Given the description of an element on the screen output the (x, y) to click on. 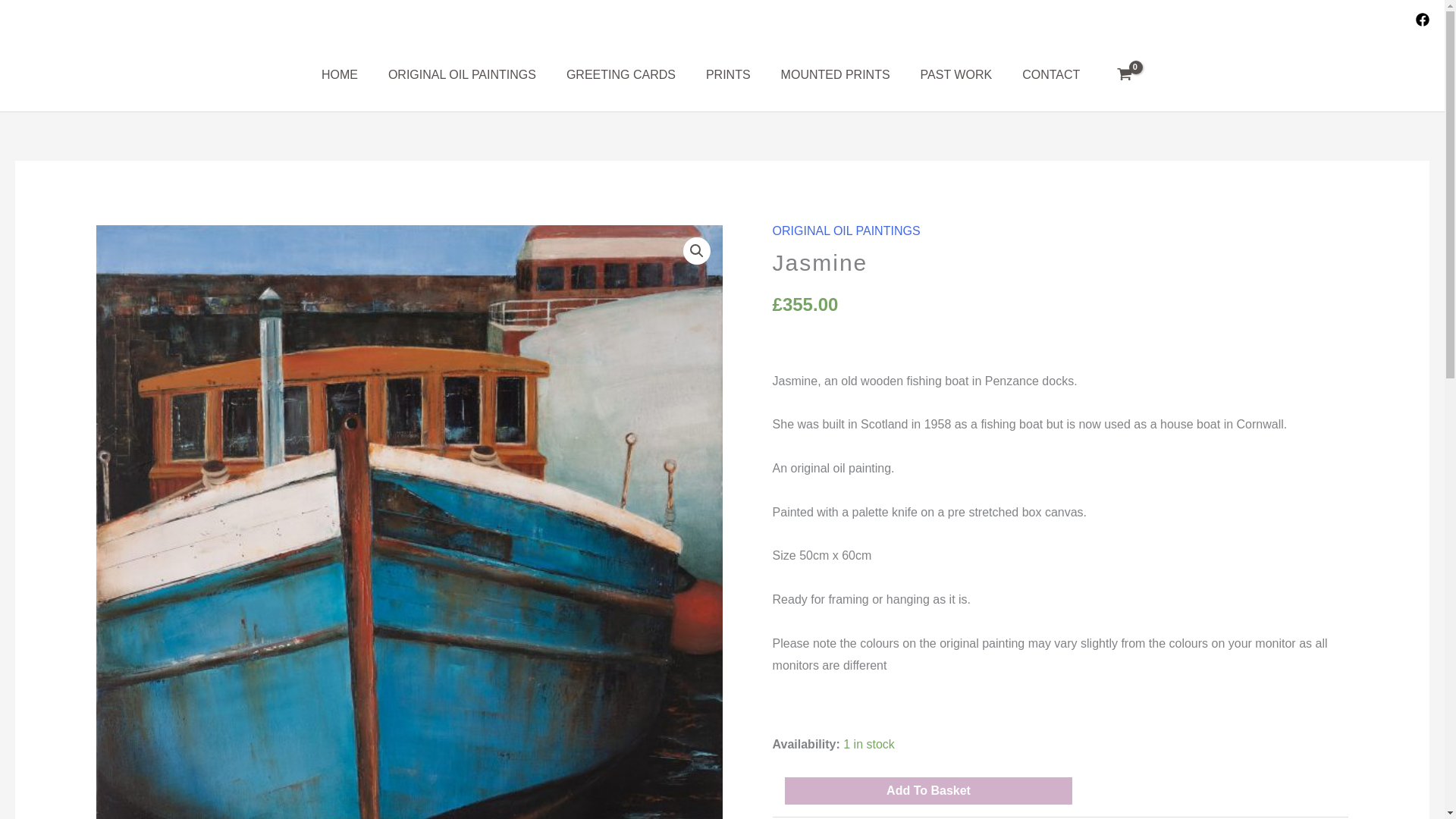
GREETING CARDS (620, 74)
Add To Basket (928, 790)
MOUNTED PRINTS (835, 74)
CONTACT (1050, 74)
ORIGINAL OIL PAINTINGS (461, 74)
ORIGINAL OIL PAINTINGS (846, 230)
PRINTS (727, 74)
PAST WORK (956, 74)
HOME (338, 74)
